Given the description of an element on the screen output the (x, y) to click on. 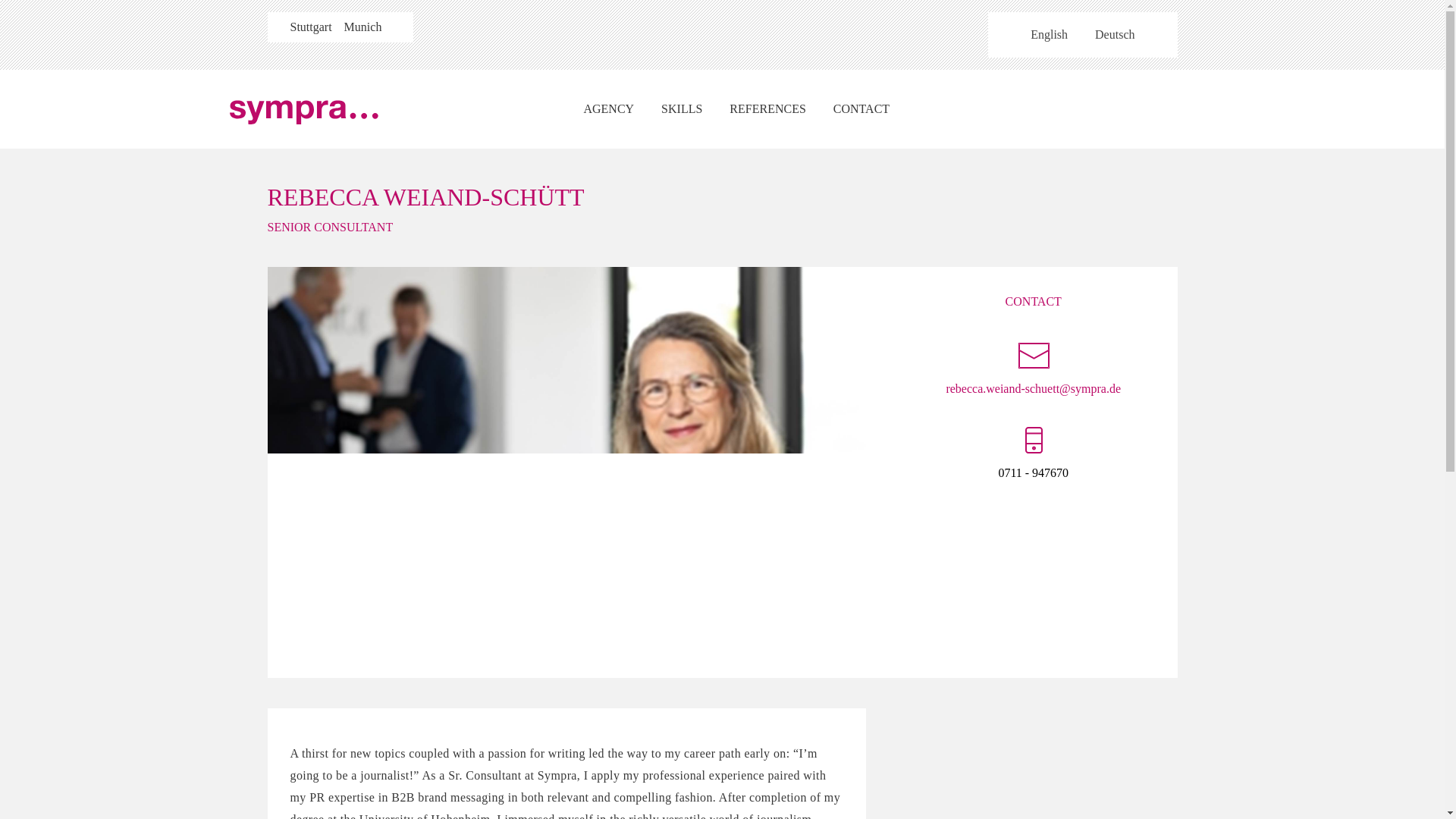
AGENCY (608, 108)
Stuttgart (310, 26)
Deutsch (1114, 34)
SKILLS (681, 108)
REFERENCES (766, 108)
Munich (362, 26)
CONTACT (861, 108)
English (1048, 34)
